Given the description of an element on the screen output the (x, y) to click on. 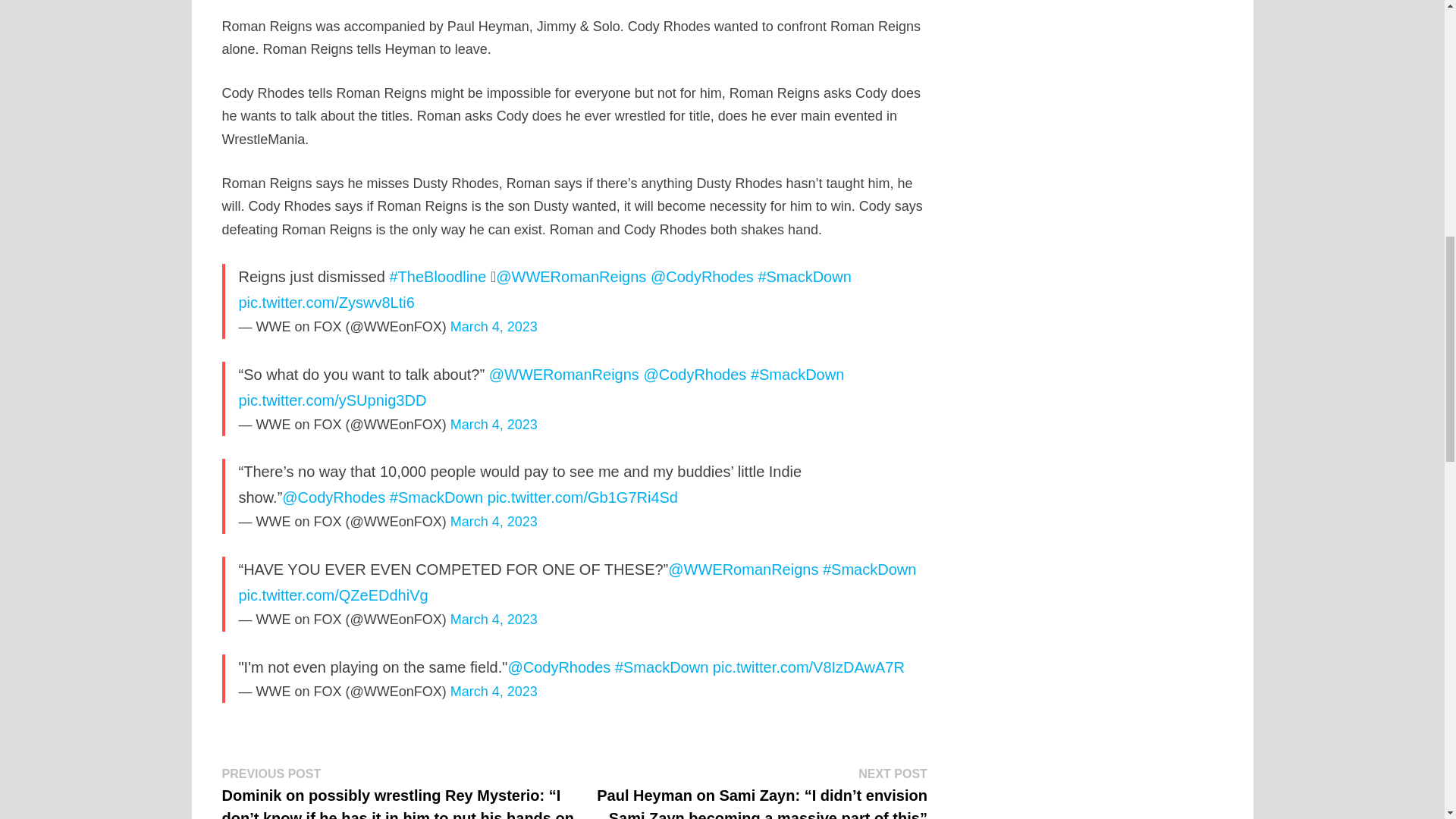
March 4, 2023 (493, 424)
March 4, 2023 (493, 326)
